Given the description of an element on the screen output the (x, y) to click on. 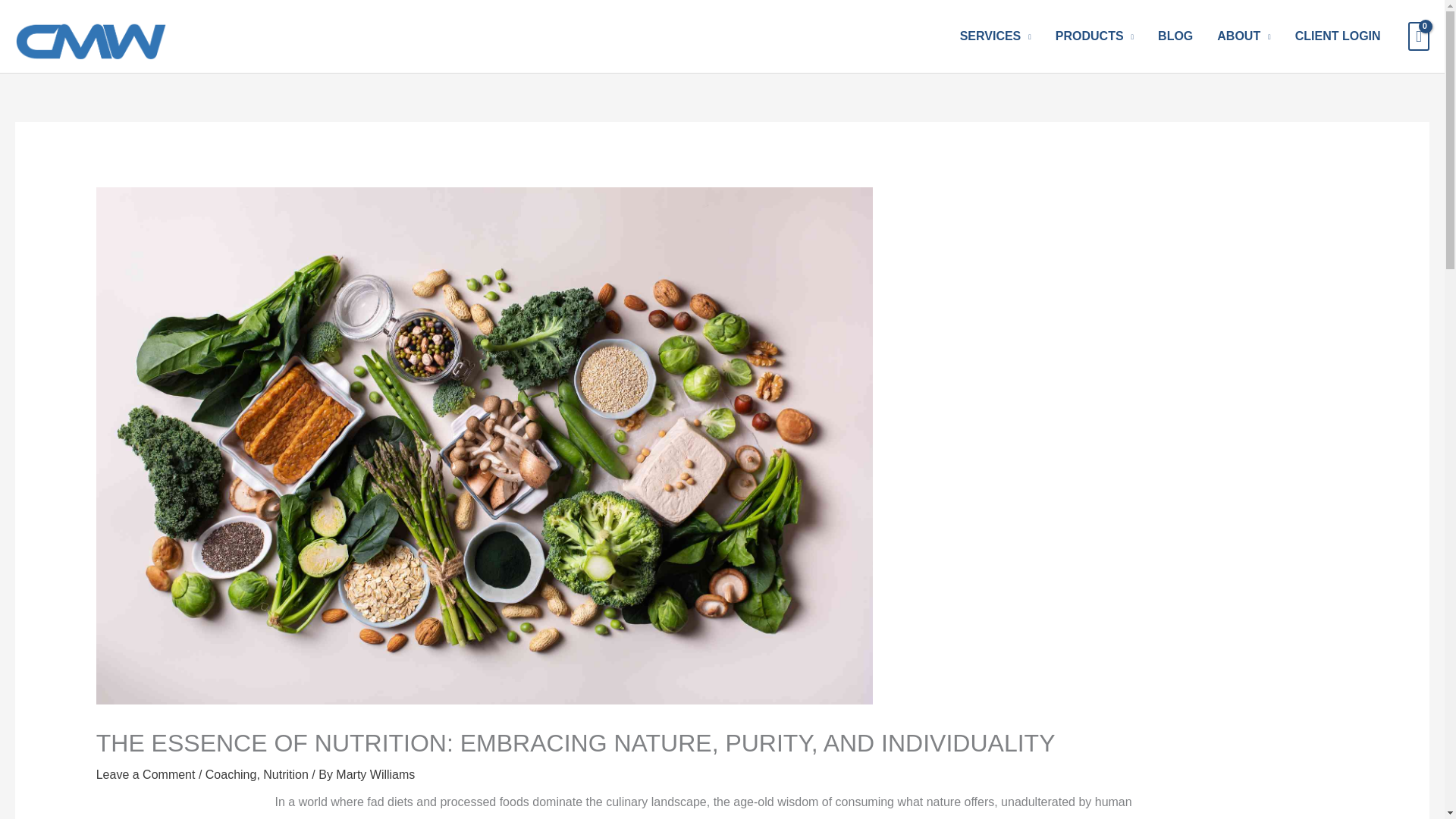
View all posts by Marty Williams (375, 774)
CLIENT LOGIN (1337, 36)
Leave a Comment (145, 774)
Nutrition (285, 774)
Coaching (231, 774)
SERVICES (995, 36)
ABOUT (1243, 36)
BLOG (1175, 36)
Marty Williams (375, 774)
PRODUCTS (1094, 36)
